Given the description of an element on the screen output the (x, y) to click on. 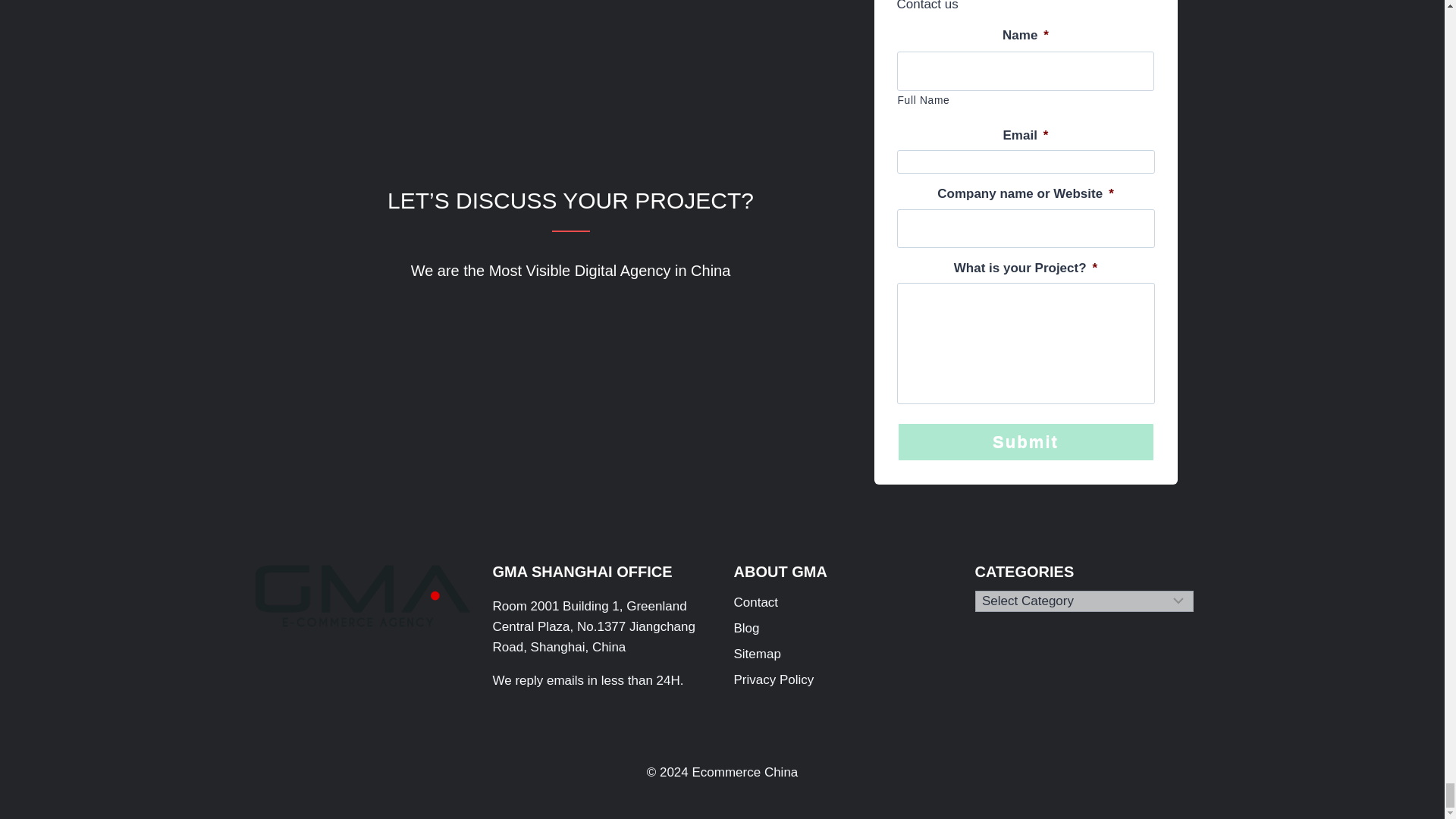
Submit (1025, 441)
